Given the description of an element on the screen output the (x, y) to click on. 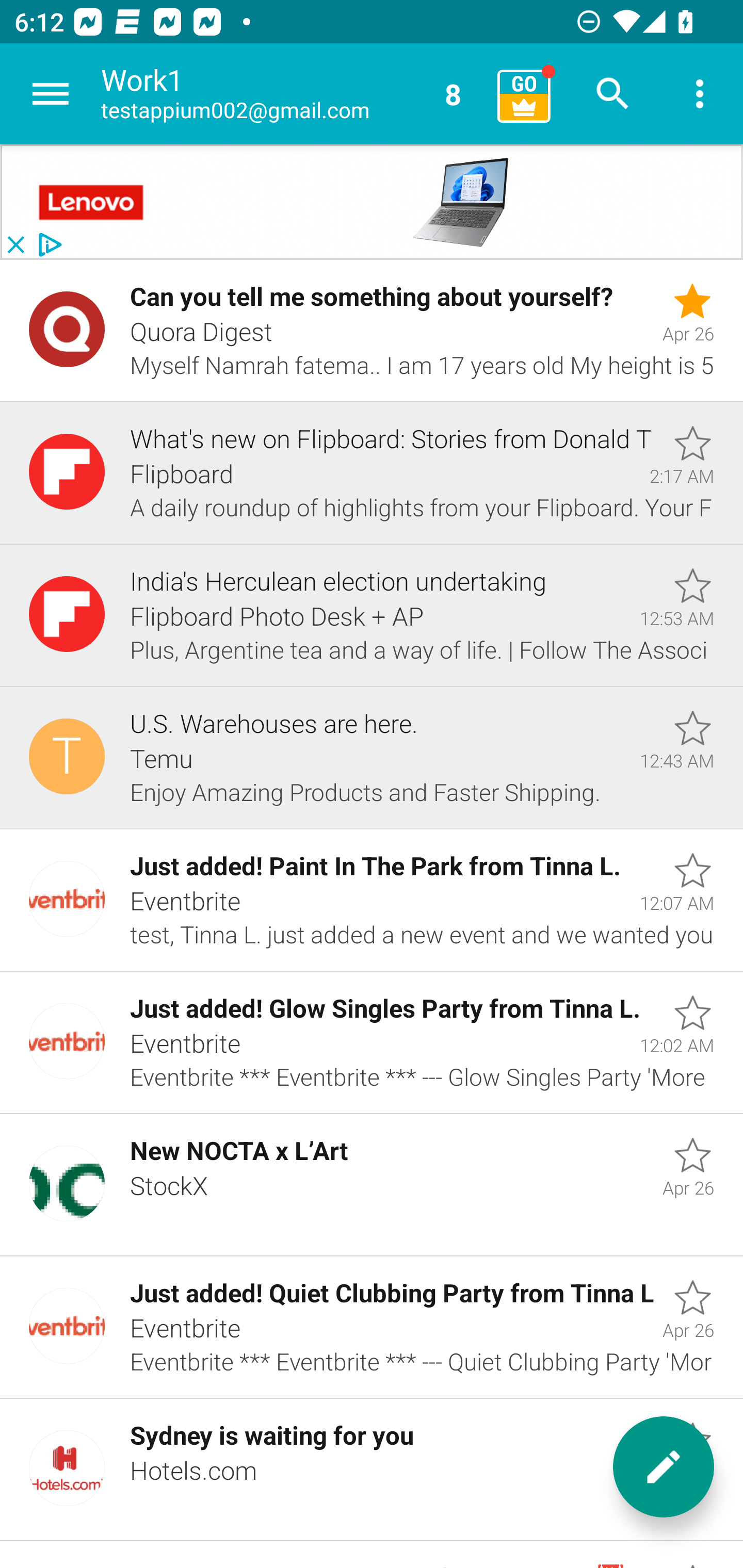
Navigate up (50, 93)
Work1 testappium002@gmail.com 8 (291, 93)
Search (612, 93)
More options (699, 93)
privacy_small close_button       (371, 202)
   (91, 202)
   (461, 203)
close_button (14, 245)
privacy_small (47, 245)
Unread, New NOCTA x L’Art, StockX, Apr 26 (371, 1184)
New message (663, 1466)
